Given the description of an element on the screen output the (x, y) to click on. 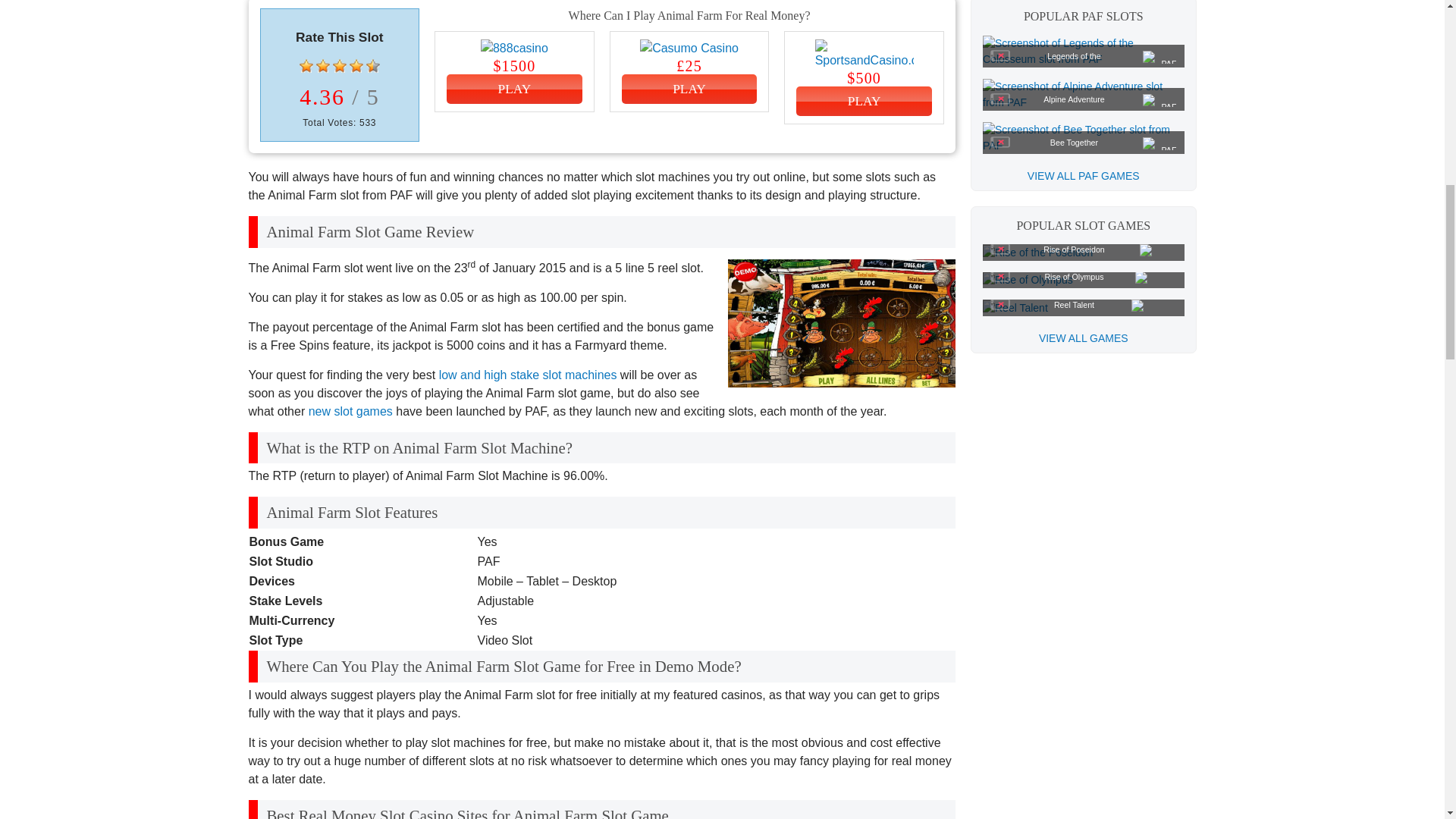
PLAY (689, 89)
PLAY (863, 101)
new slot games (350, 410)
low and high stake slot machines (528, 374)
2 Stars (322, 65)
3 Stars (339, 65)
4 Stars (355, 65)
1 Star (306, 65)
Screenshot of Animal Farm slot from PAF (841, 323)
PLAY (514, 89)
